Given the description of an element on the screen output the (x, y) to click on. 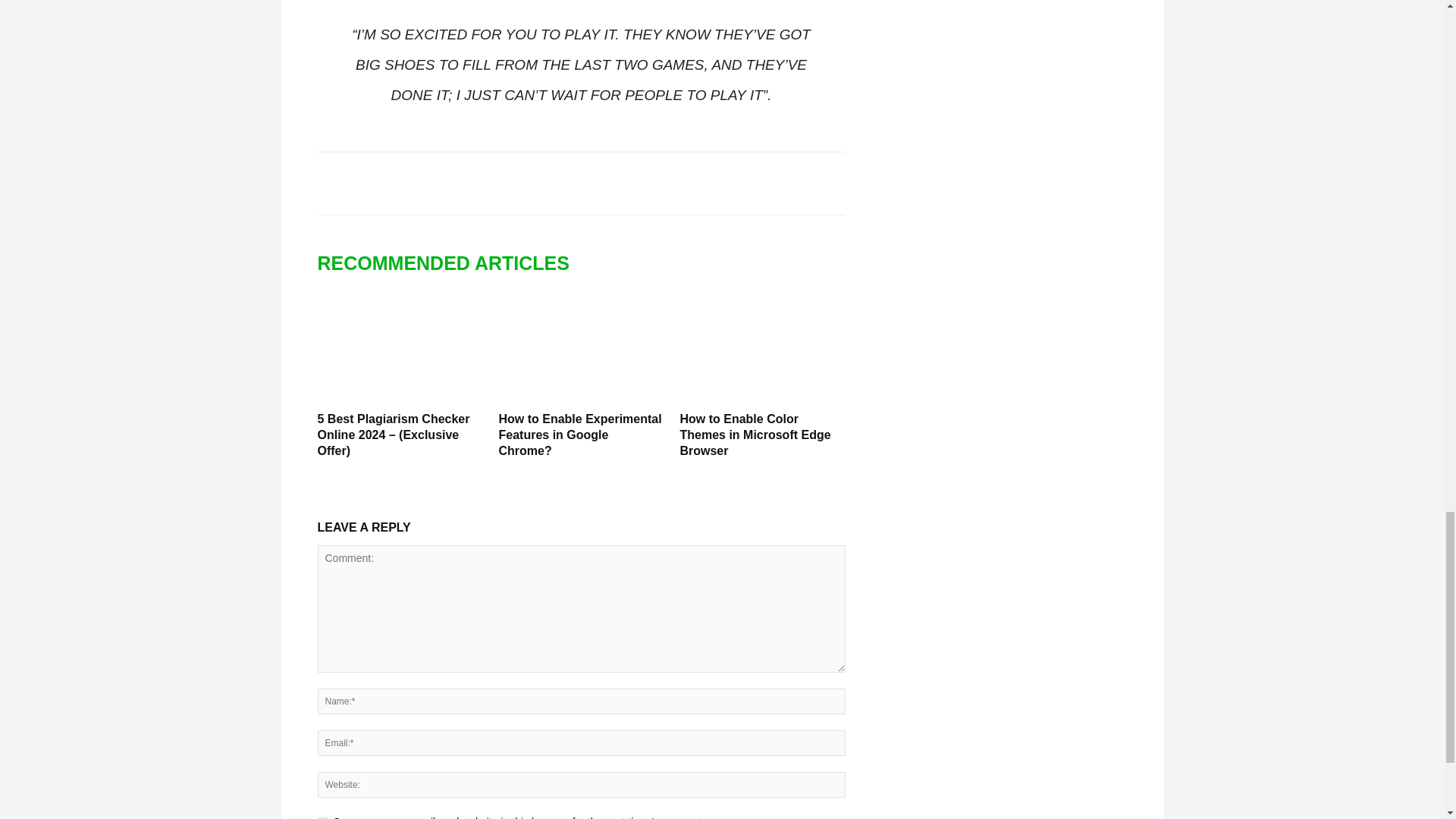
RECOMMENDED ARTICLES (450, 263)
